Given the description of an element on the screen output the (x, y) to click on. 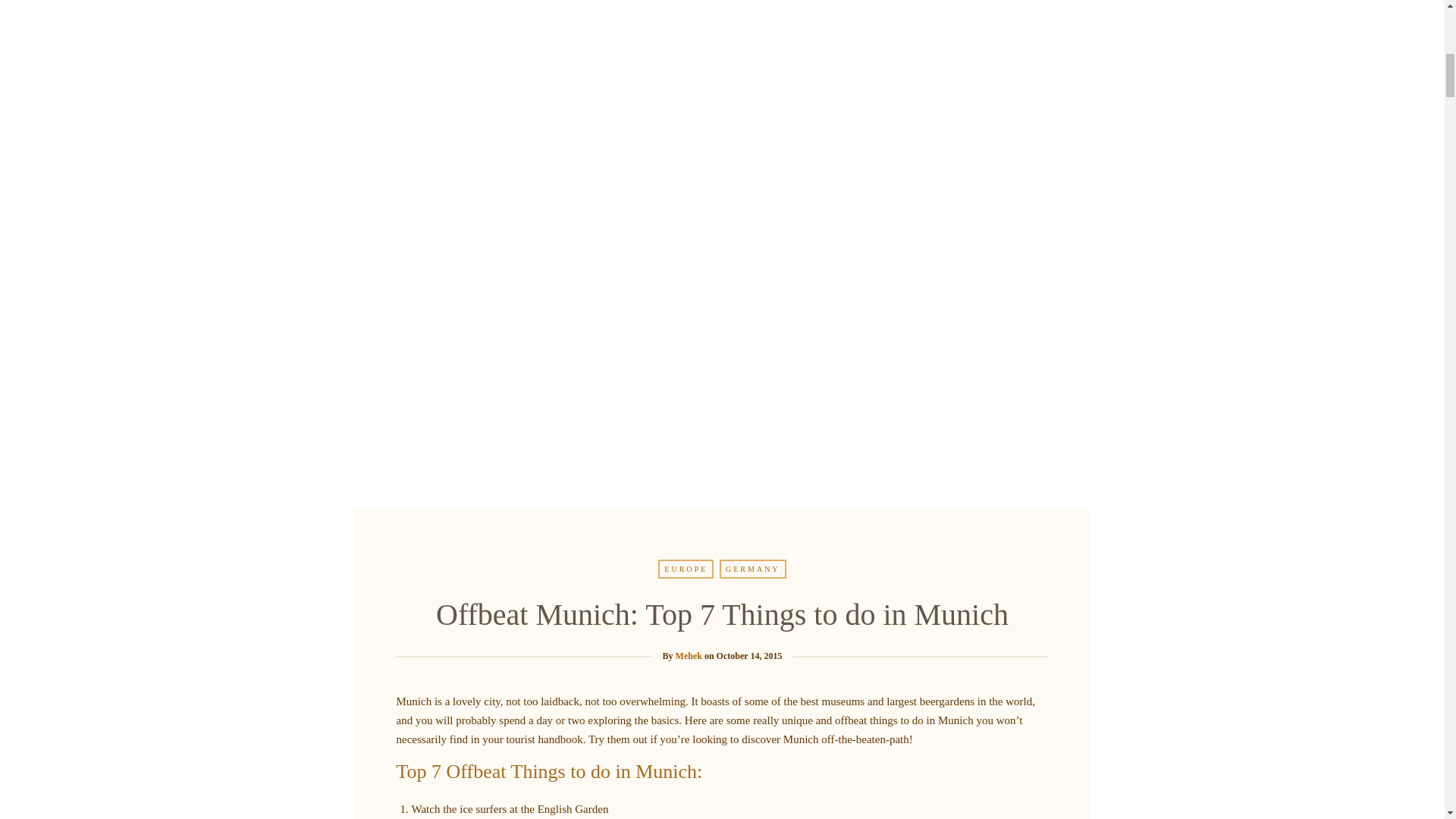
Posts by Mehek (688, 655)
